Given the description of an element on the screen output the (x, y) to click on. 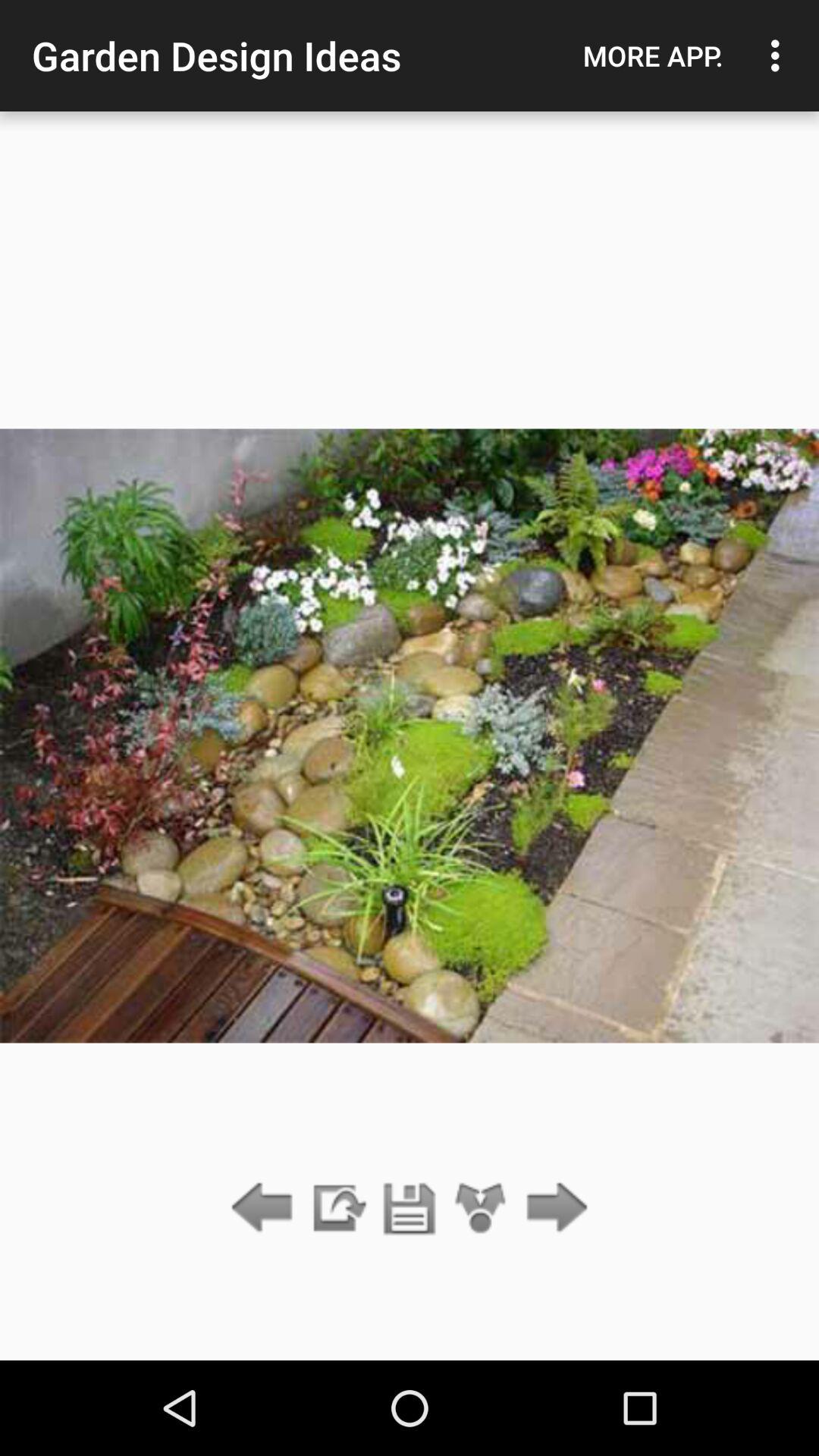
open icon below garden design ideas (409, 1208)
